Given the description of an element on the screen output the (x, y) to click on. 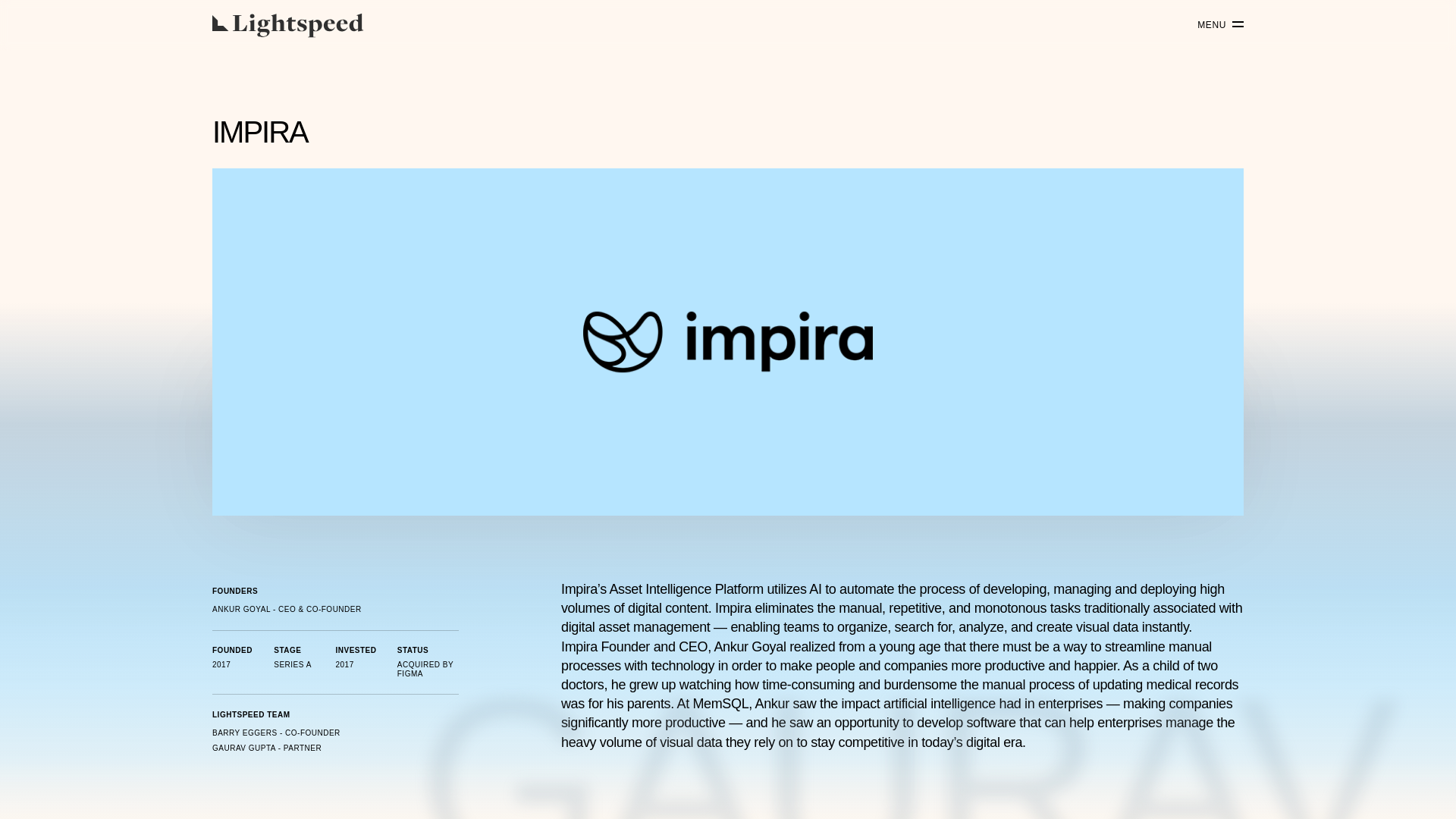
MENU (1214, 25)
